Given the description of an element on the screen output the (x, y) to click on. 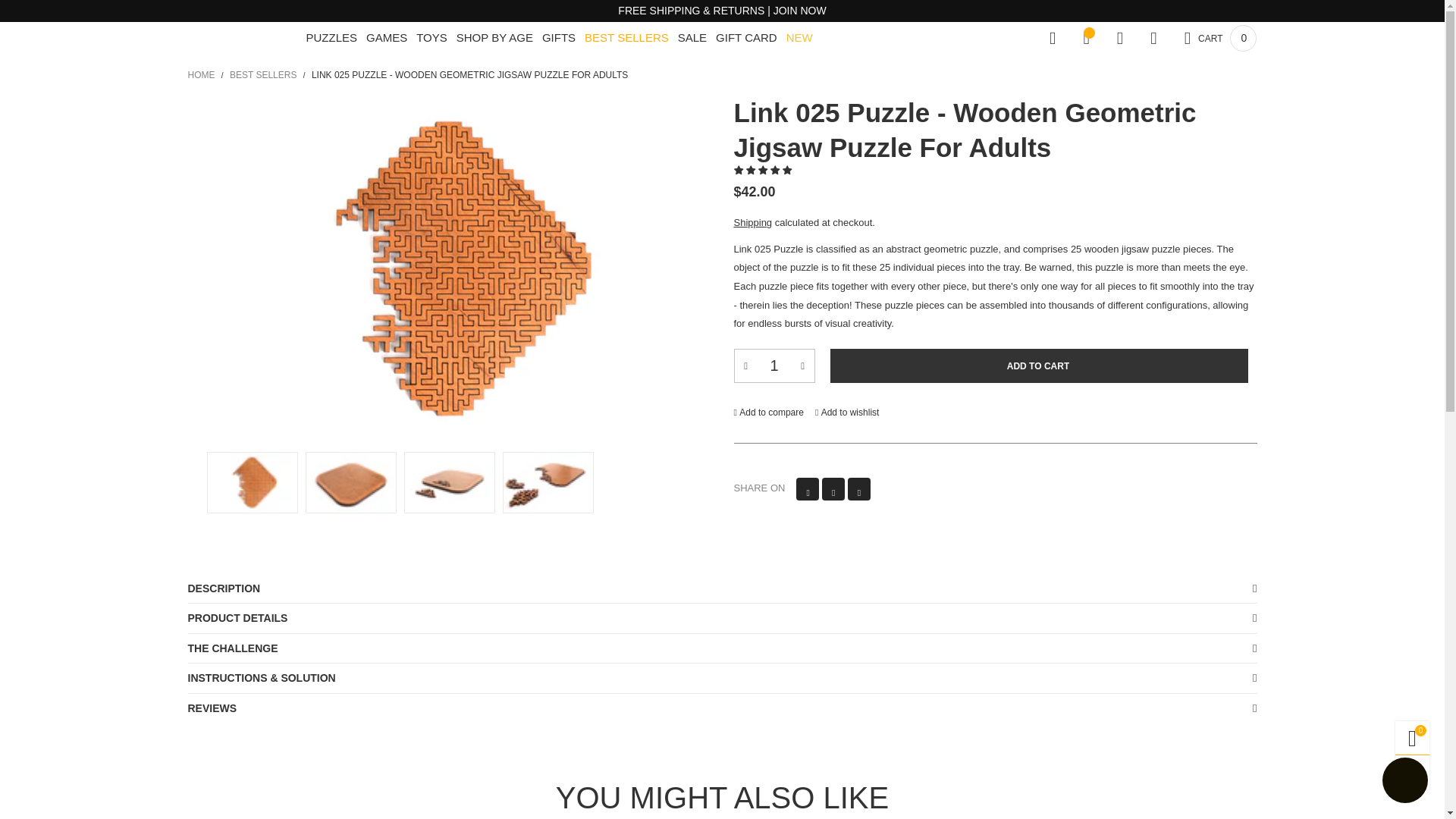
Best Sellers (626, 38)
Toys (431, 38)
GAMES (386, 38)
Wishlist (1085, 37)
Compare (1051, 37)
Cart (1220, 38)
Sign In (1020, 206)
Gift Card (746, 38)
LINK 025 PUZZLE - WOODEN GEOMETRIC JIGSAW PUZZLE FOR ADULTS (469, 74)
